Given the description of an element on the screen output the (x, y) to click on. 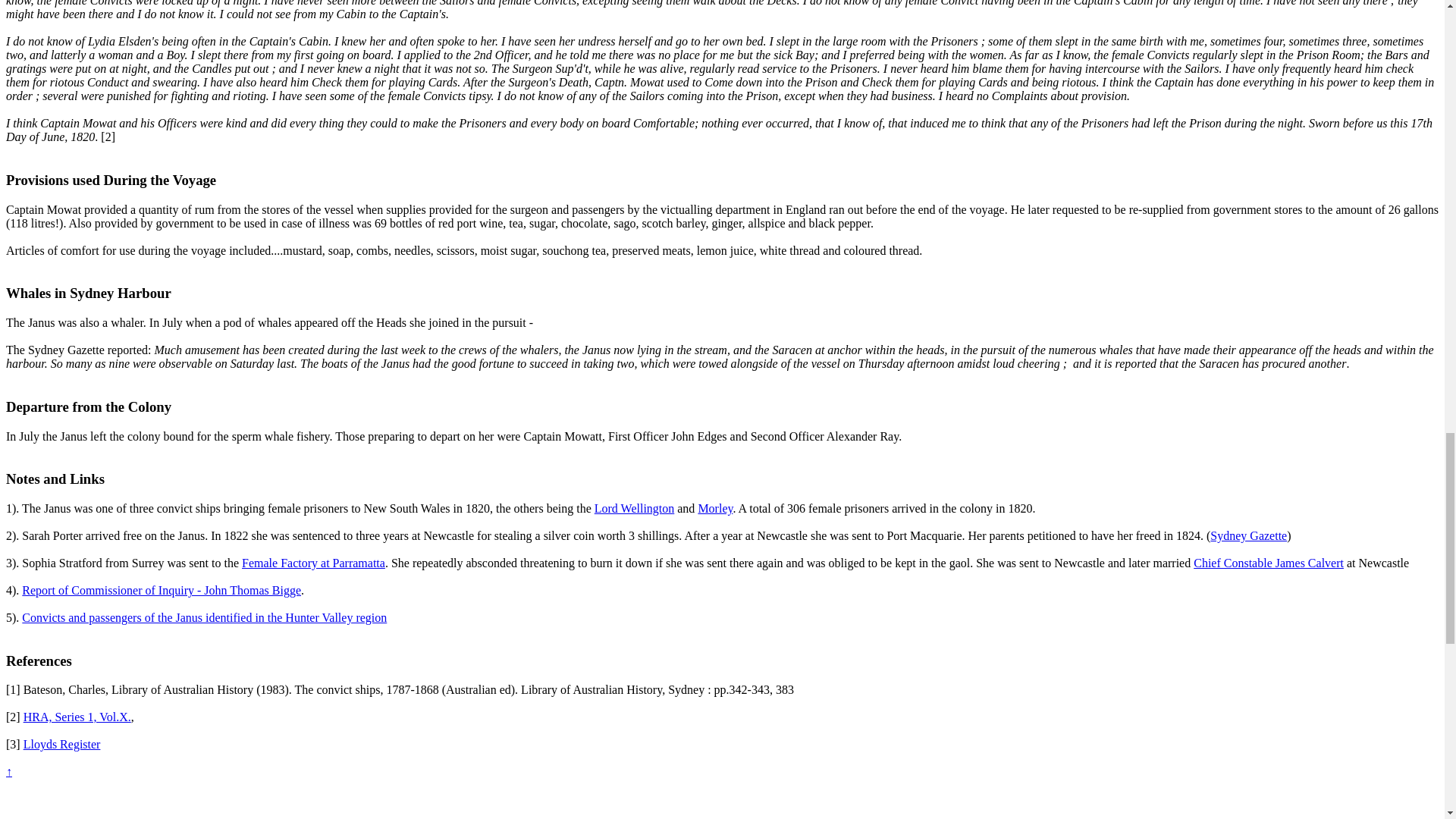
Report of Commissioner of Inquiry - John Thomas Bigge (161, 590)
Lloyds Register (61, 744)
Morley (714, 508)
HRA, Series 1, Vol.X. (77, 716)
Sydney Gazette (1248, 535)
Lord Wellington (634, 508)
Chief Constable James Calvert (1268, 562)
Female Factory at Parramatta (313, 562)
